Given the description of an element on the screen output the (x, y) to click on. 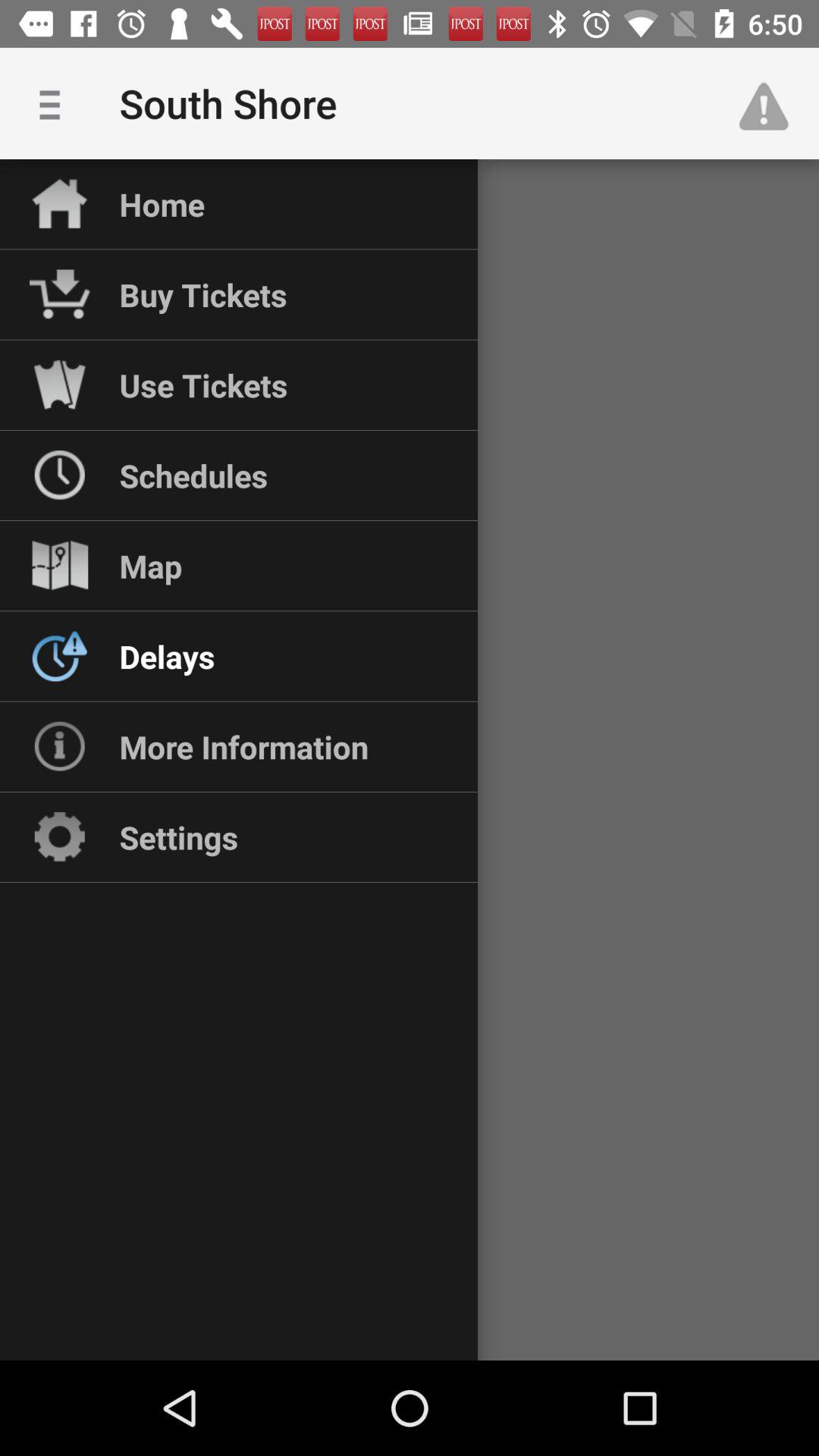
click icon next to home item (55, 103)
